Given the description of an element on the screen output the (x, y) to click on. 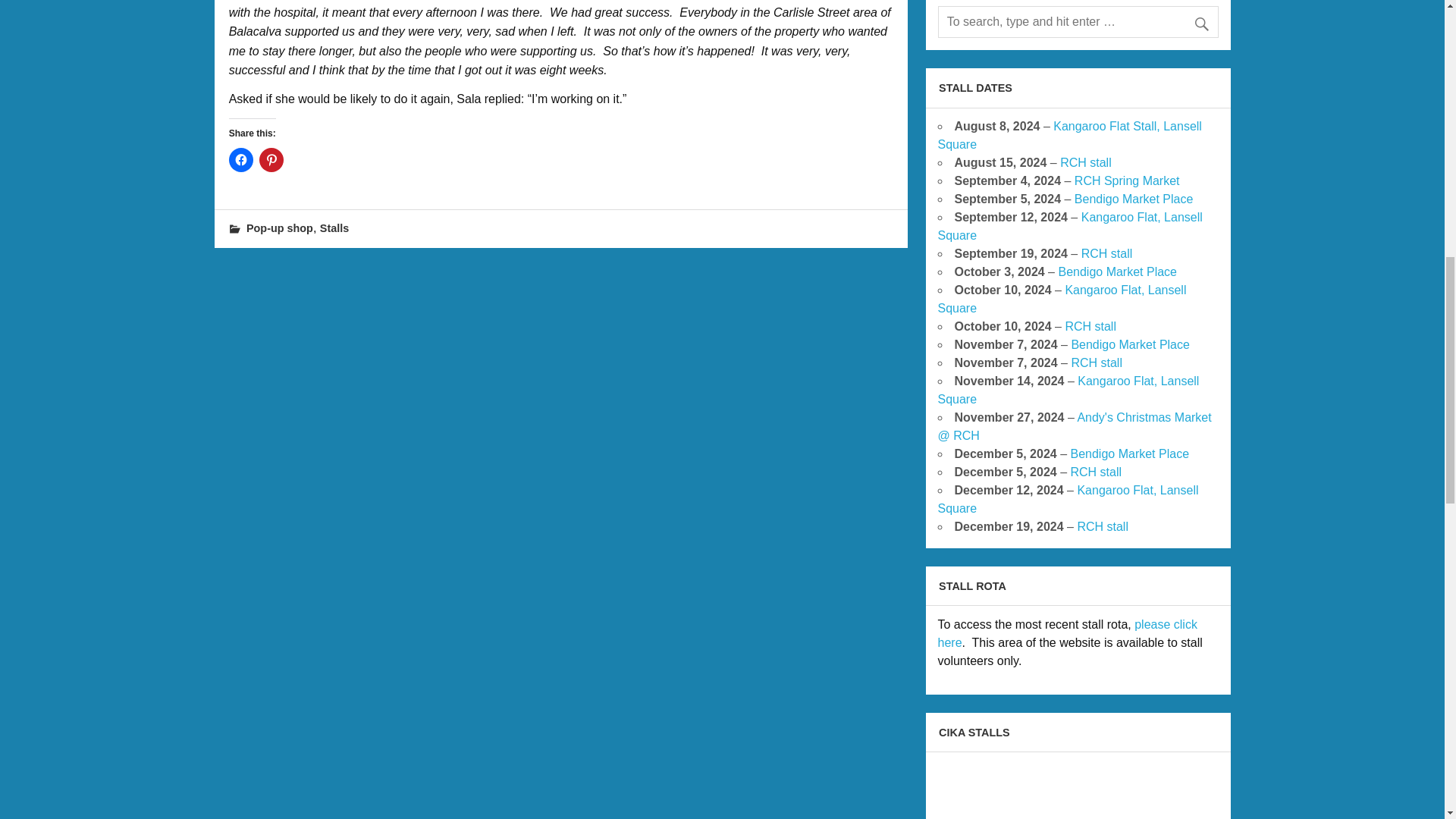
Click to share on Pinterest (271, 159)
Click to share on Facebook (240, 159)
